Given the description of an element on the screen output the (x, y) to click on. 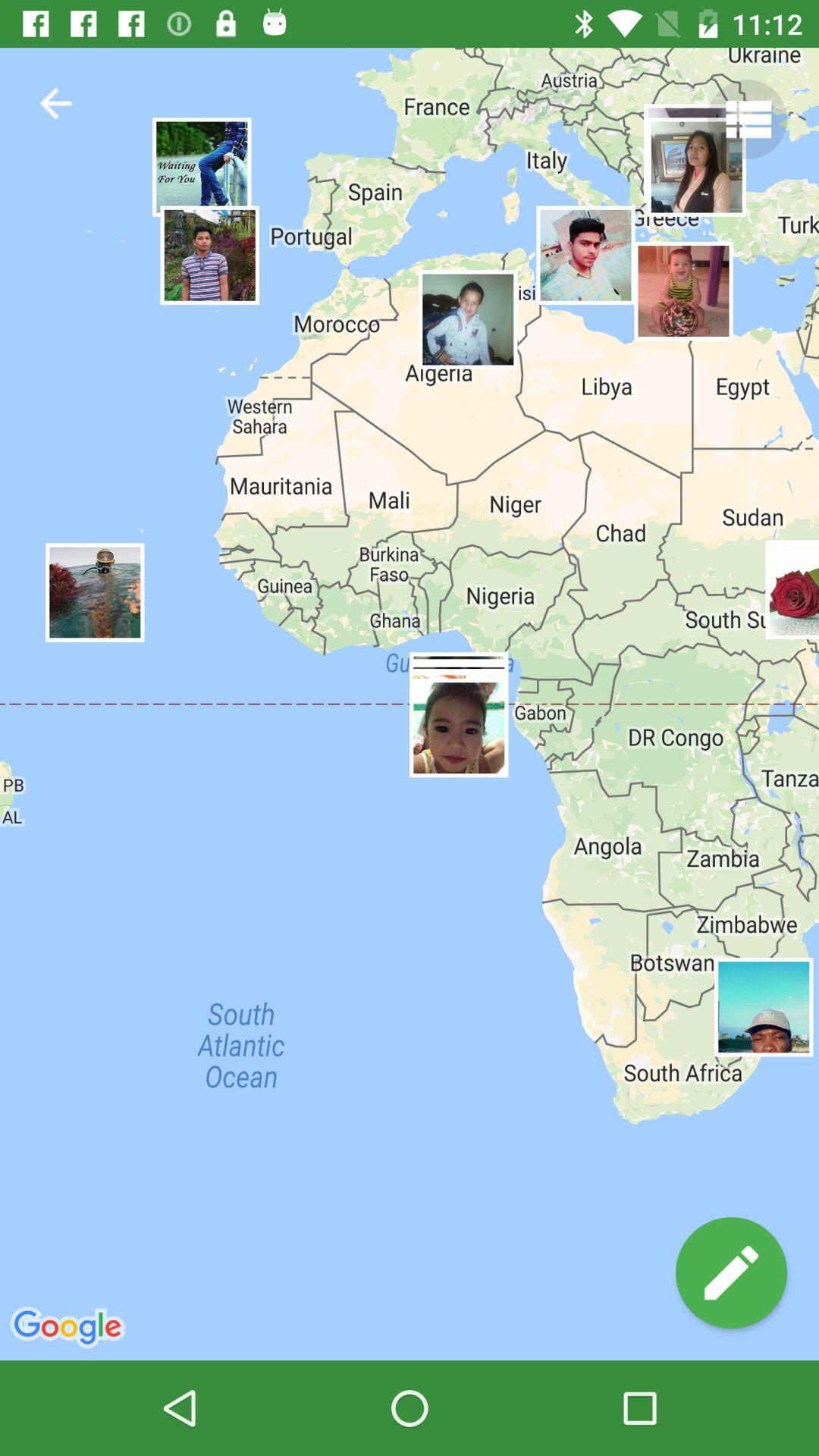
go back (55, 103)
